Given the description of an element on the screen output the (x, y) to click on. 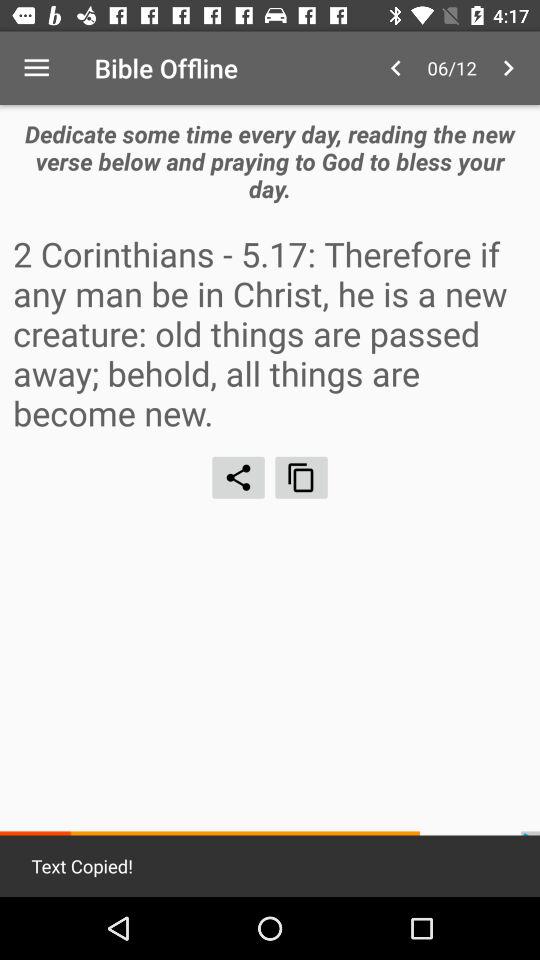
tap the item to the right of bible offline icon (395, 67)
